Given the description of an element on the screen output the (x, y) to click on. 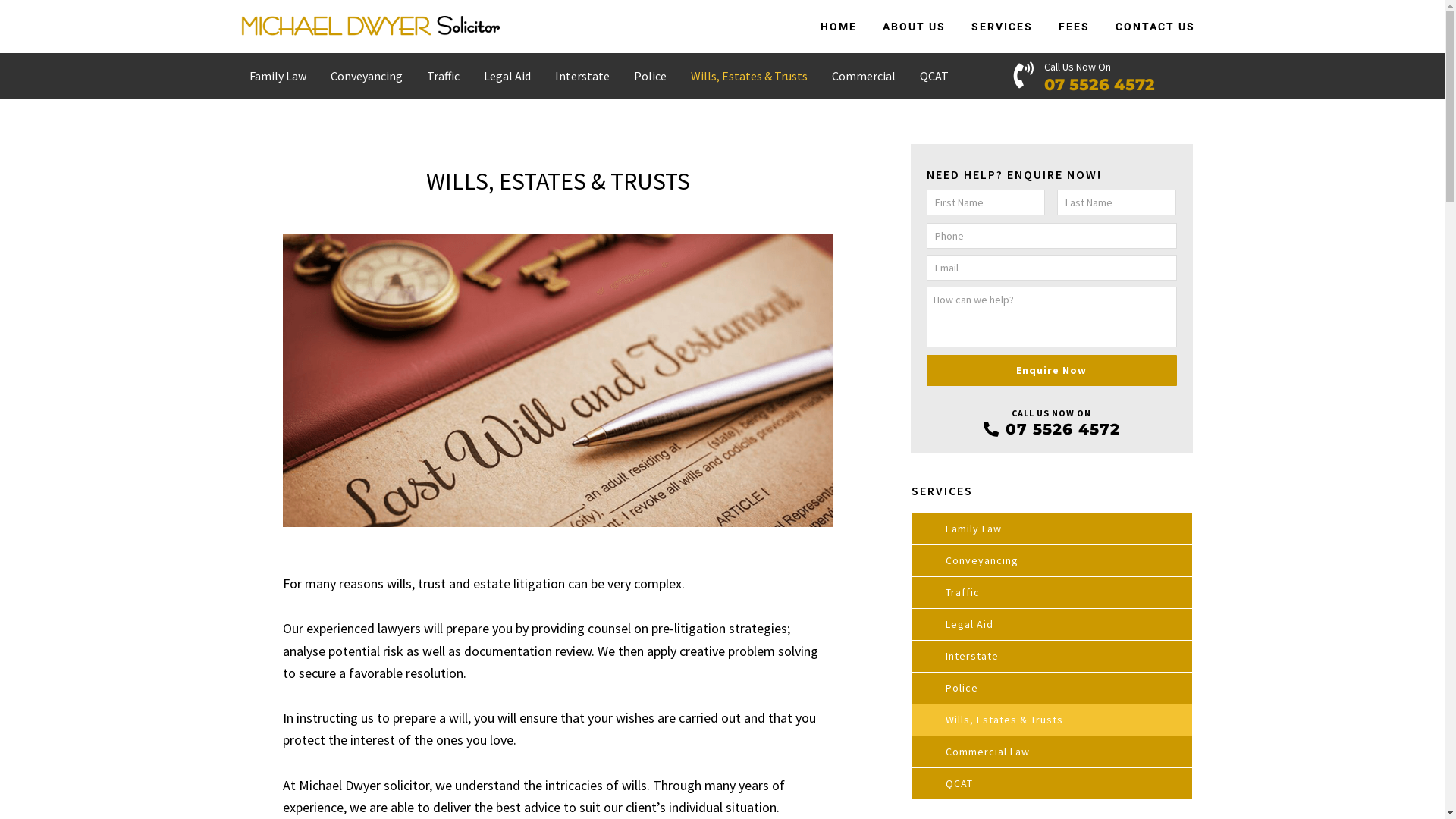
FEES Element type: text (1073, 26)
QCAT Element type: text (933, 75)
Commercial Element type: text (862, 75)
Enquire Now Element type: text (1051, 369)
mds-logo Element type: hover (369, 26)
Interstate Element type: text (581, 75)
Family Law Element type: text (1051, 528)
Legal Aid Element type: text (506, 75)
Wills, Estates & Trusts Element type: text (748, 75)
Conveyancing Element type: text (1051, 560)
Wills, Estates & Trusts Element type: text (1051, 719)
Legal Aid Element type: text (1051, 624)
Will & Enduring Power Of Attorney Gold Coast Element type: hover (557, 380)
Skip to main content Element type: text (0, 0)
Interstate Element type: text (1051, 655)
HOME Element type: text (838, 26)
Conveyancing Element type: text (366, 75)
CALL US NOW ON
07 5526 4572 Element type: text (1051, 422)
Commercial Law Element type: text (1051, 751)
ABOUT US Element type: text (913, 26)
QCAT Element type: text (1051, 783)
SERVICES Element type: text (1001, 26)
Traffic Element type: text (1051, 592)
Traffic Element type: text (442, 75)
Police Element type: text (649, 75)
CONTACT US Element type: text (1155, 26)
Police Element type: text (1051, 687)
Family Law Element type: text (276, 75)
